Given the description of an element on the screen output the (x, y) to click on. 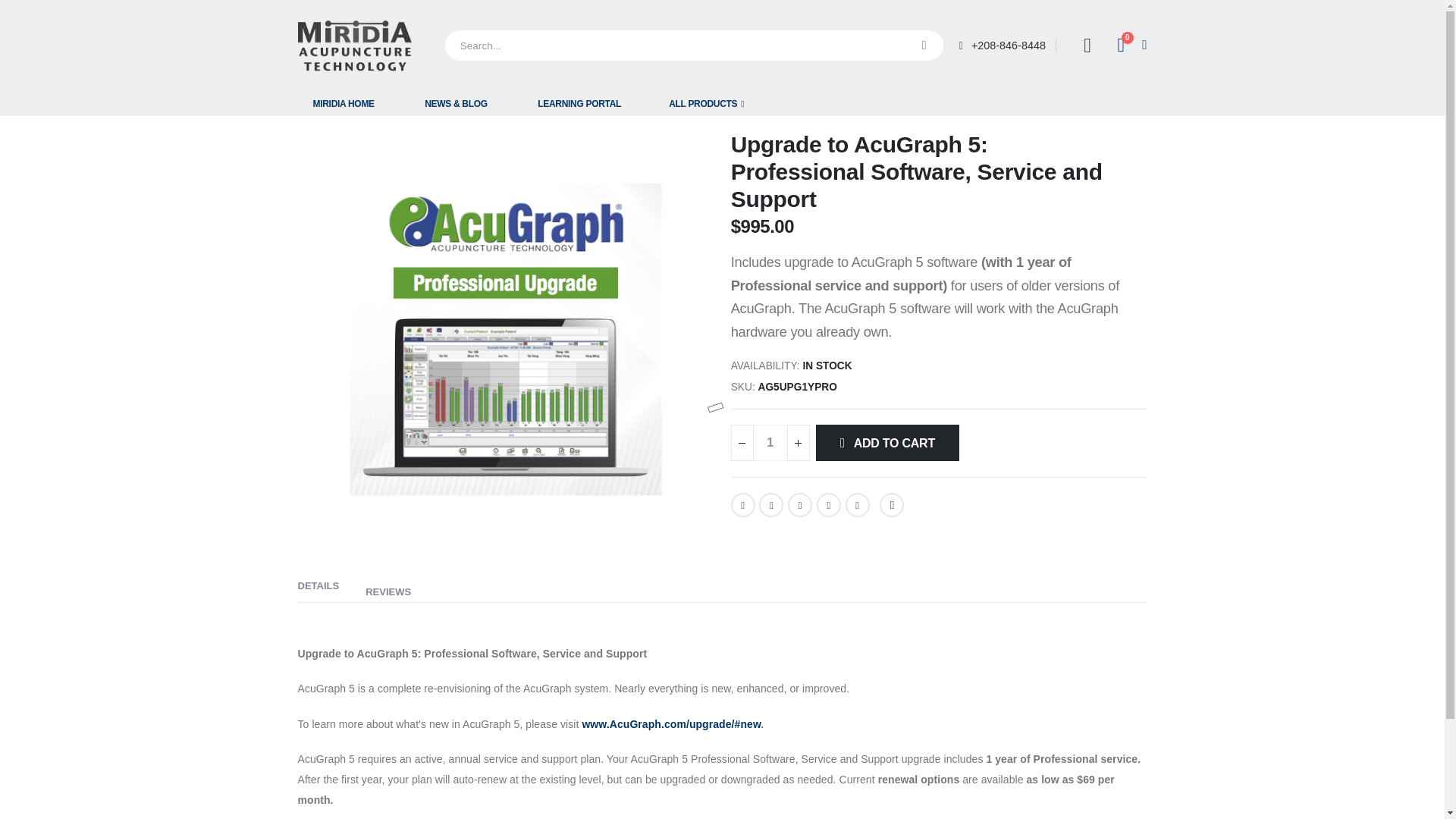
Search (924, 45)
All Products (1128, 45)
ALL PRODUCTS (705, 103)
MIRIDIA HOME (705, 103)
My Account (342, 103)
Miridia Acupuncture Technology (1087, 46)
1 (353, 45)
LEARNING PORTAL (770, 443)
